Given the description of an element on the screen output the (x, y) to click on. 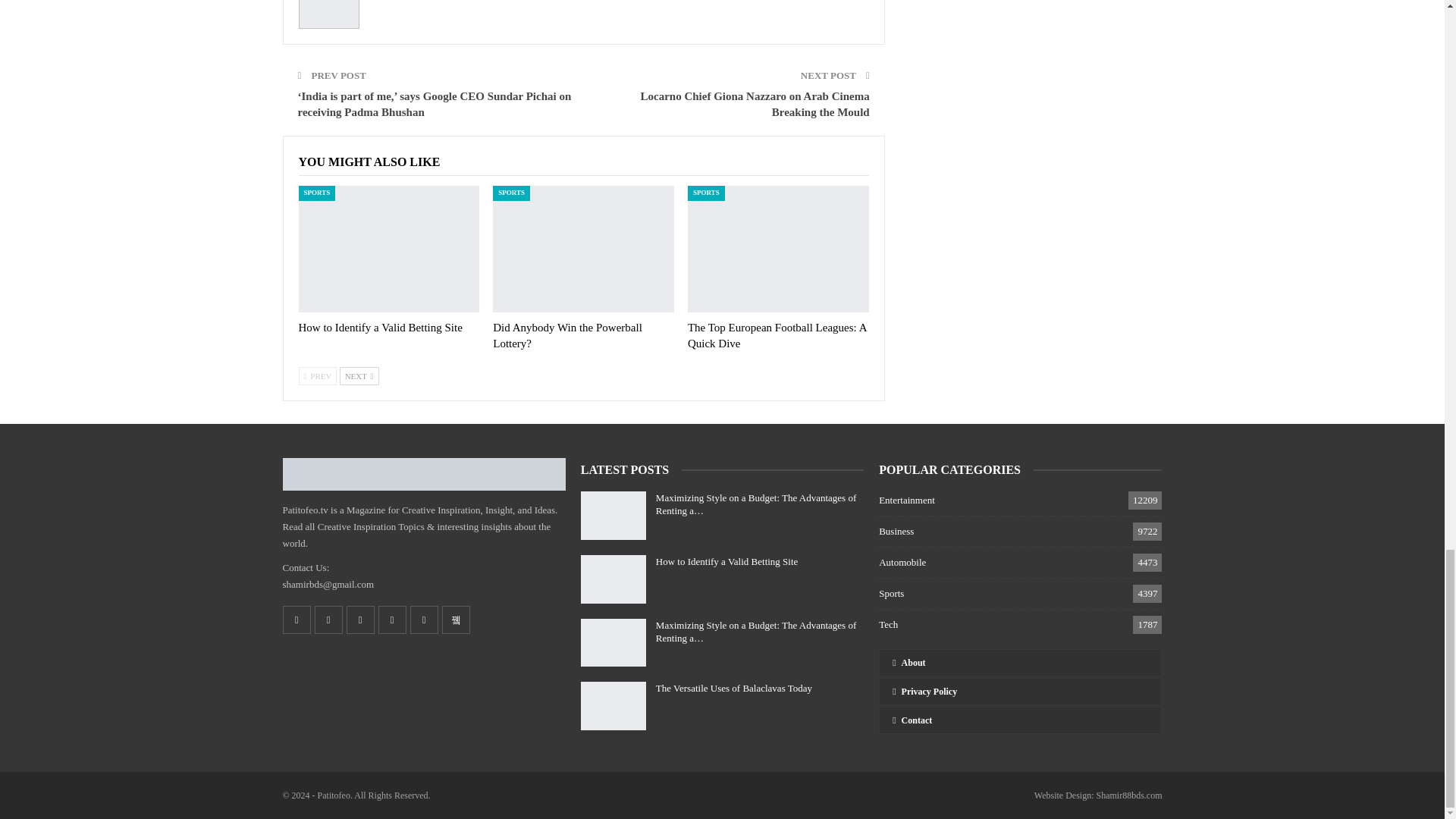
The Top European Football Leagues: A Quick Dive (778, 248)
Next (358, 375)
The Top European Football Leagues: A Quick Dive (776, 335)
Did Anybody Win the Powerball Lottery? (583, 248)
Previous (317, 375)
How to Identify a Valid Betting Site (389, 248)
How to Identify a Valid Betting Site (380, 327)
Did Anybody Win the Powerball Lottery? (567, 335)
